Given the description of an element on the screen output the (x, y) to click on. 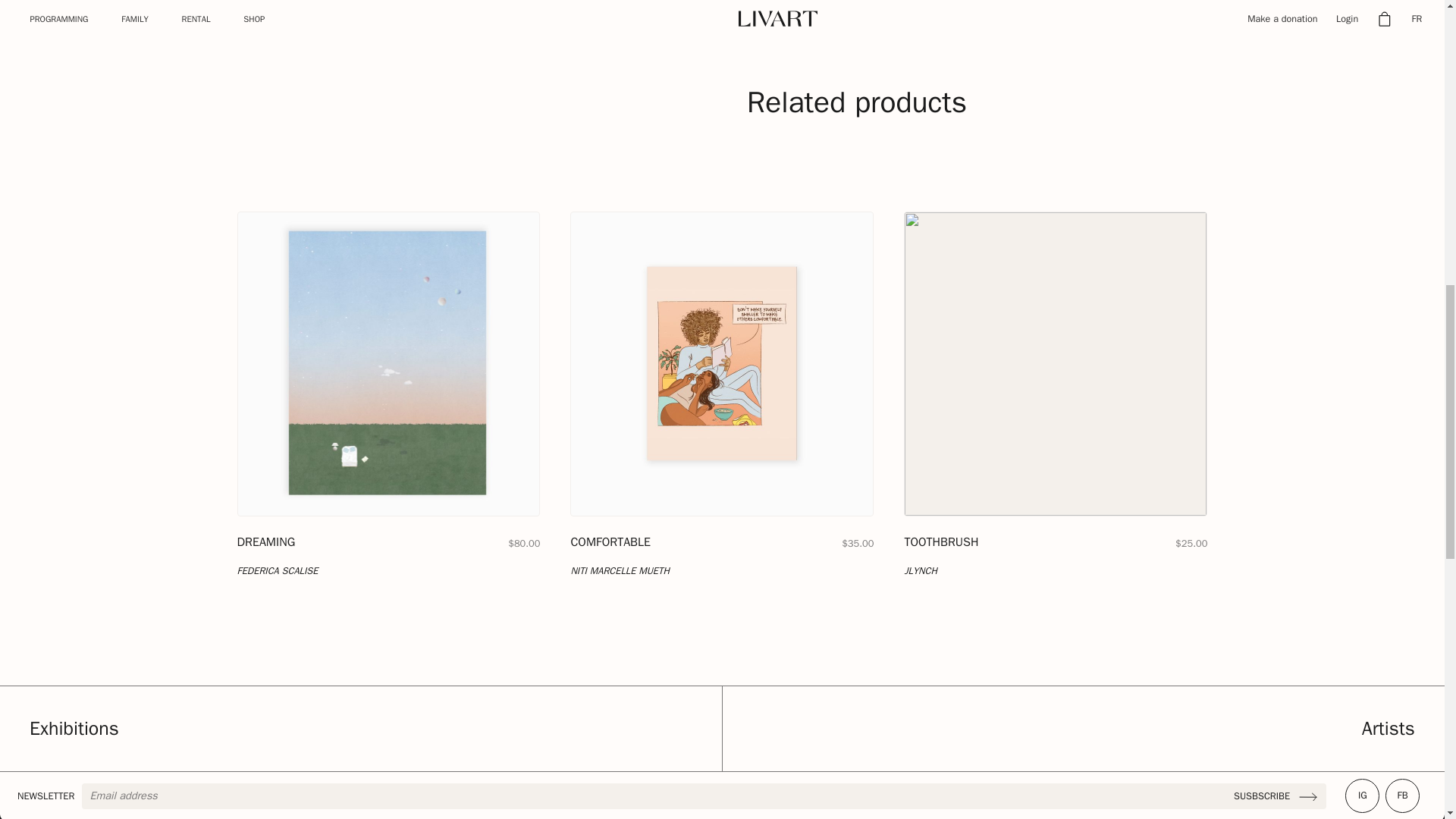
NITI MARCELLE MUETH (619, 571)
TOOTHBRUSH (941, 541)
FEDERICA SCALISE (276, 571)
COMFORTABLE (610, 541)
Facebook (1402, 795)
DREAMING (265, 541)
Instagram (1361, 795)
